Given the description of an element on the screen output the (x, y) to click on. 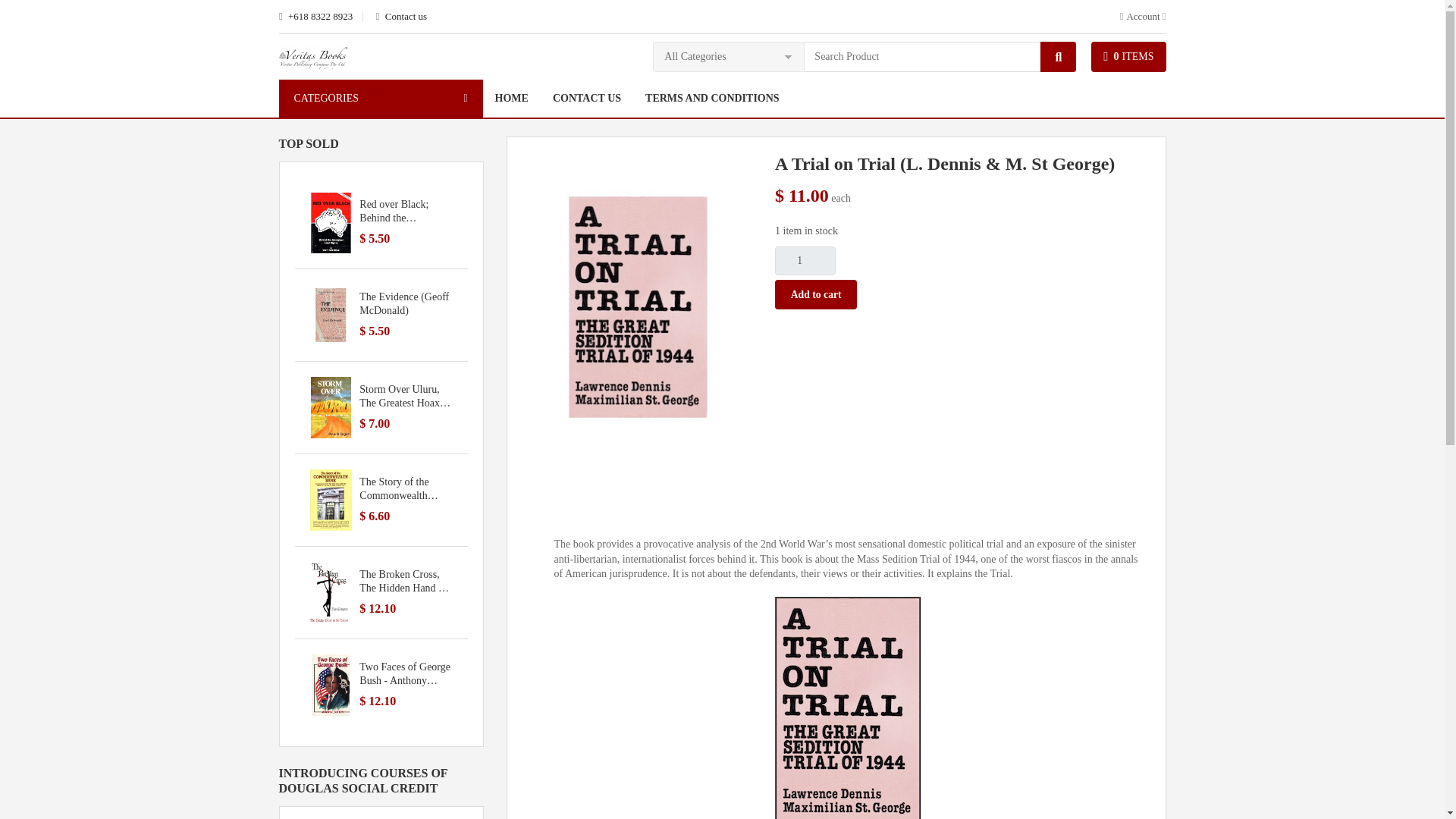
CATEGORIES (381, 98)
CONTACT US (586, 98)
Add to cart (815, 294)
Contact us (400, 16)
HOME (511, 98)
1 (804, 260)
TERMS AND CONDITIONS (712, 98)
